Given the description of an element on the screen output the (x, y) to click on. 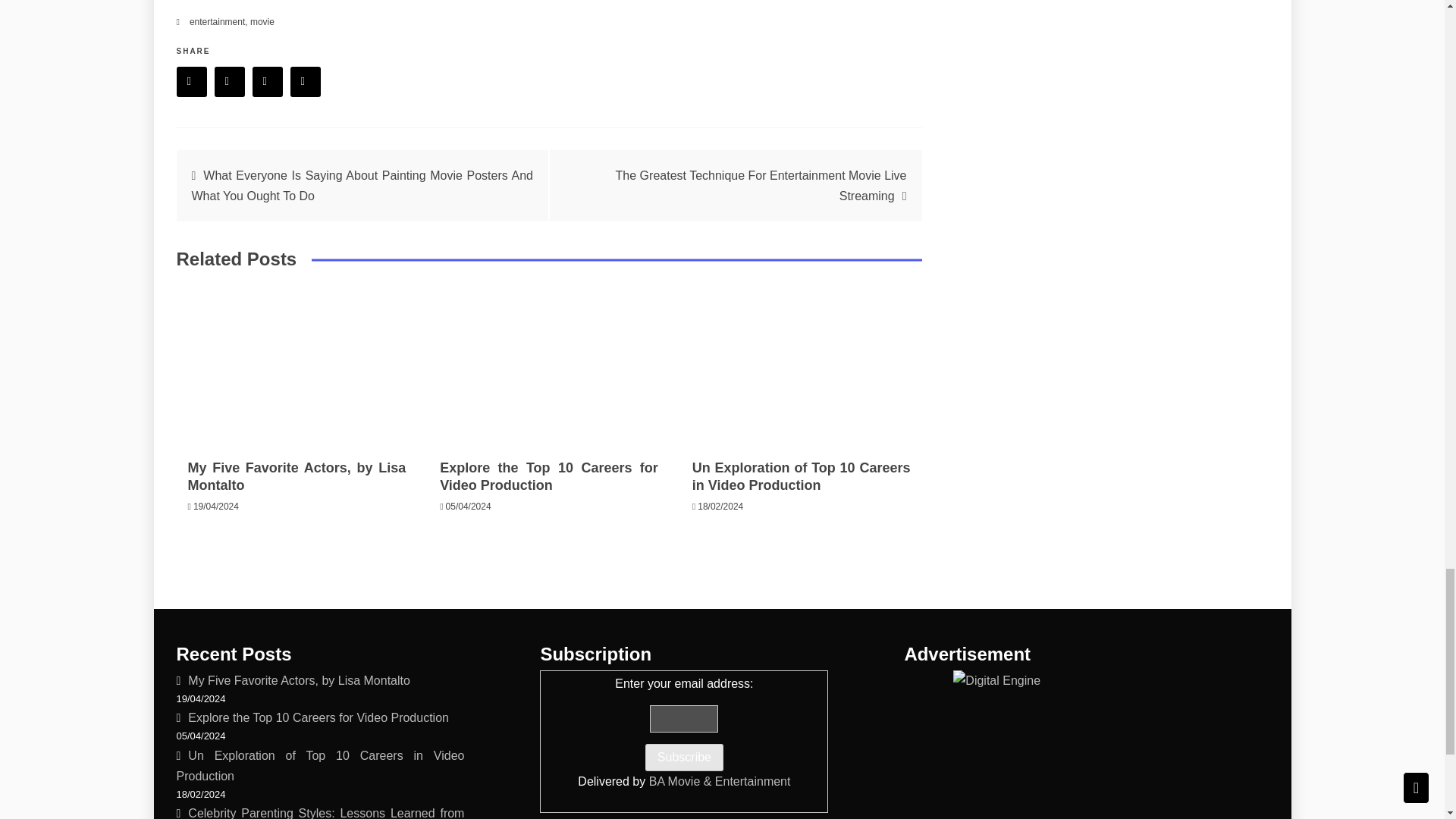
Un Exploration of Top 10 Careers in Video Production 5 (801, 366)
Twitter (229, 81)
Subscribe (684, 757)
My Five Favorite Actors, by Lisa Montalto (296, 476)
movie (262, 21)
Facebook (191, 81)
Explore the Top 10 Careers for Video Production (548, 476)
Pinterest (266, 81)
